Given the description of an element on the screen output the (x, y) to click on. 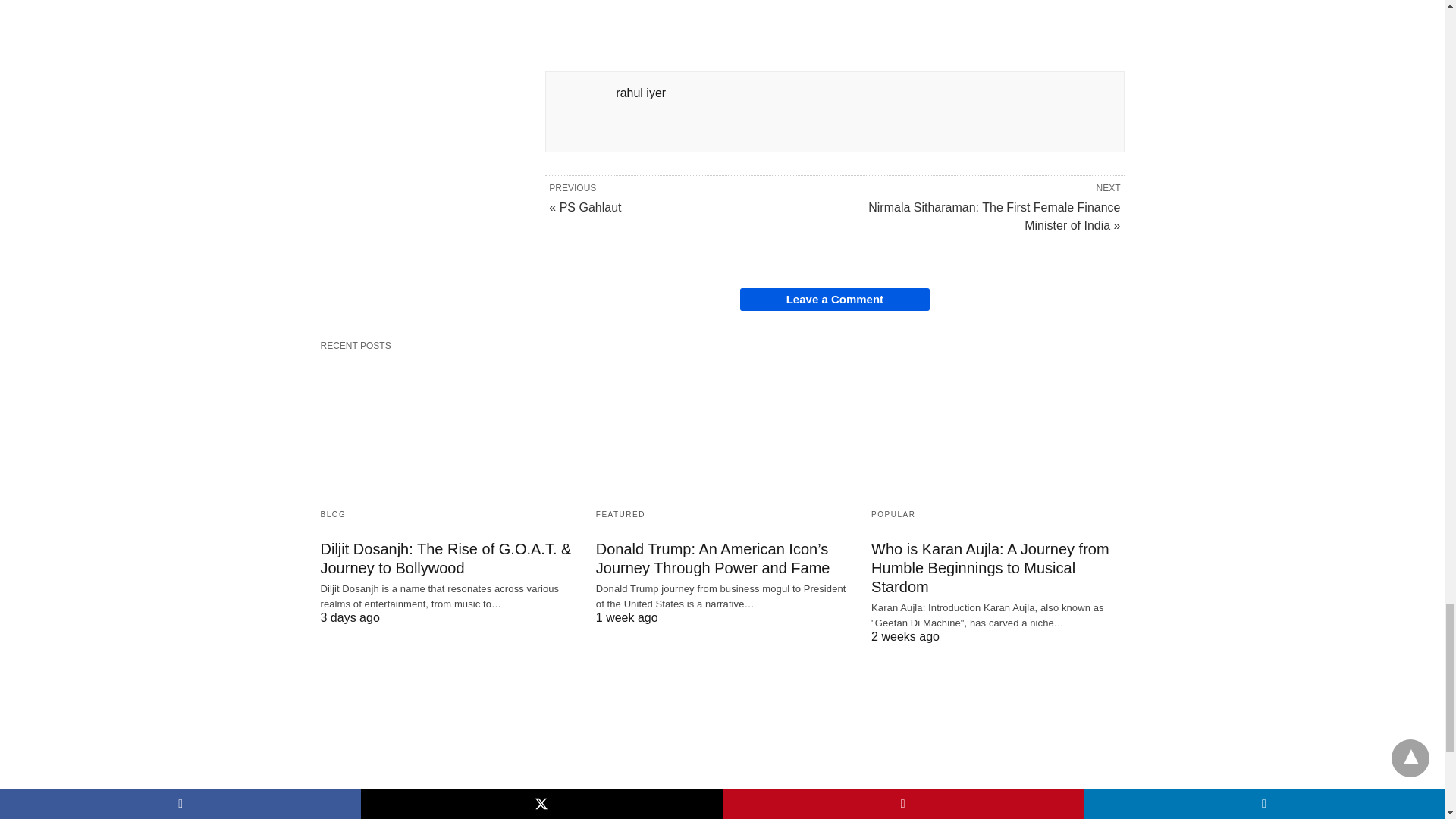
Leave a Comment (834, 299)
Leave a Comment (834, 299)
